Given the description of an element on the screen output the (x, y) to click on. 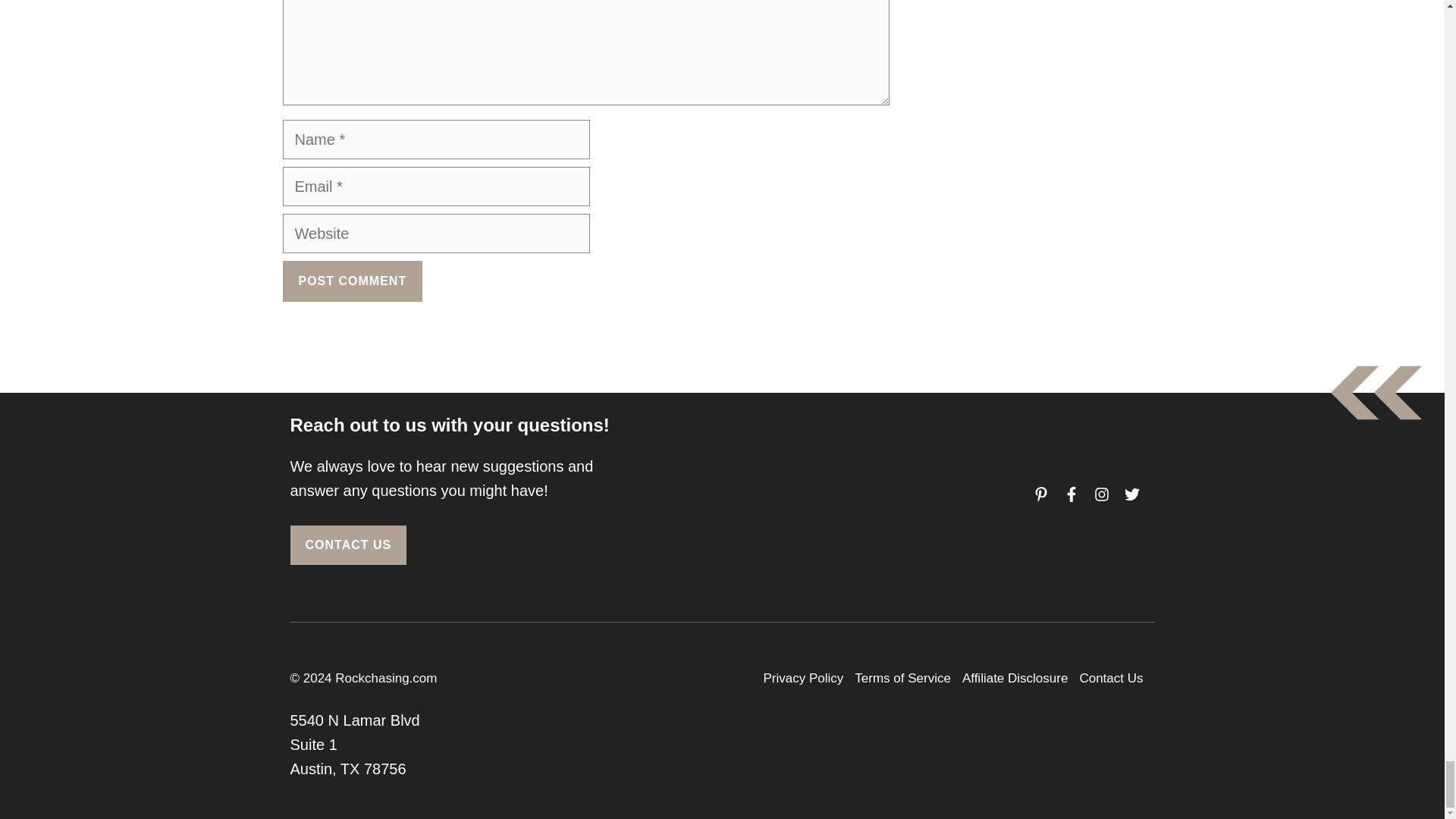
Post Comment (352, 281)
